Given the description of an element on the screen output the (x, y) to click on. 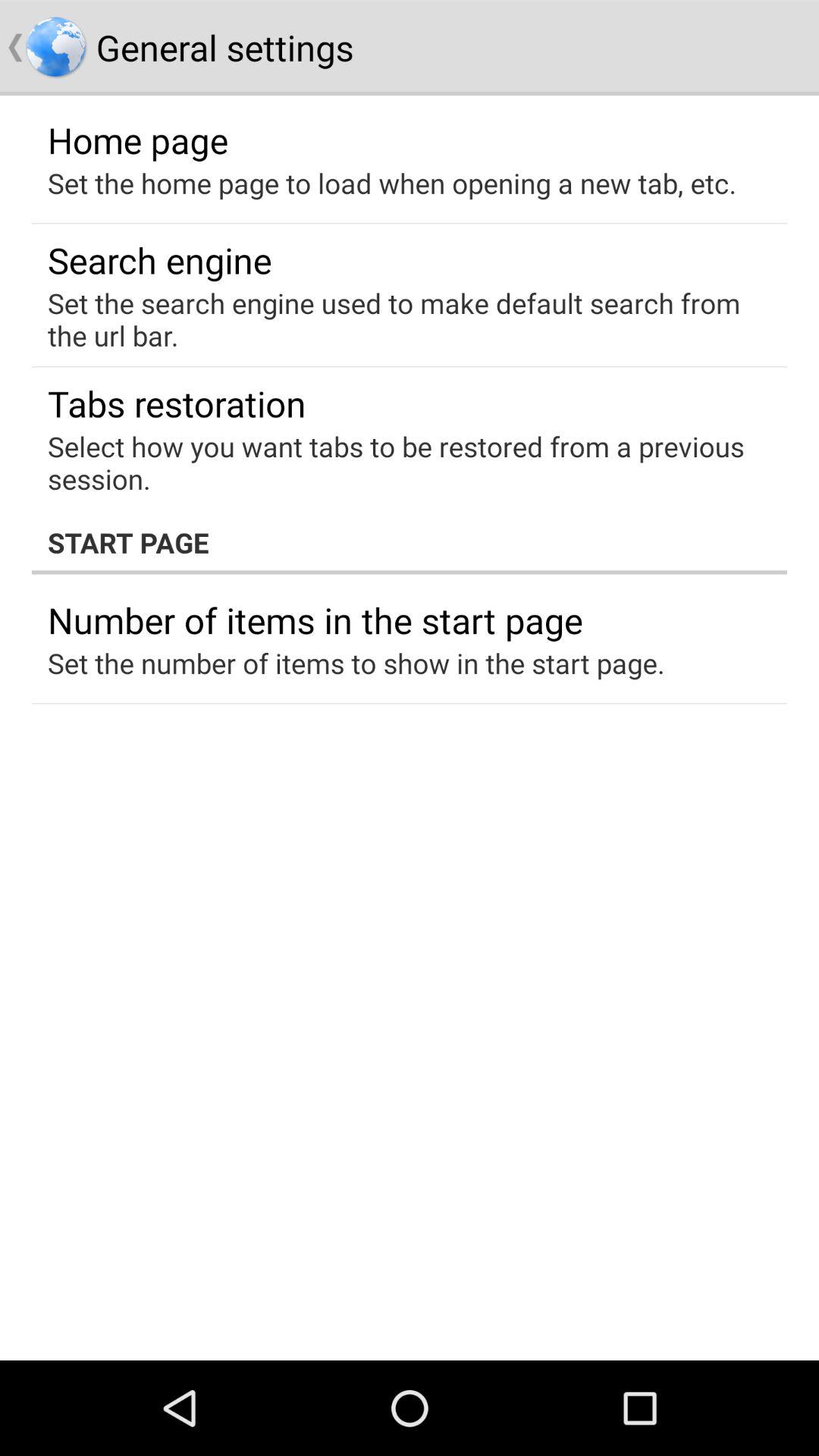
click select how you app (399, 462)
